Given the description of an element on the screen output the (x, y) to click on. 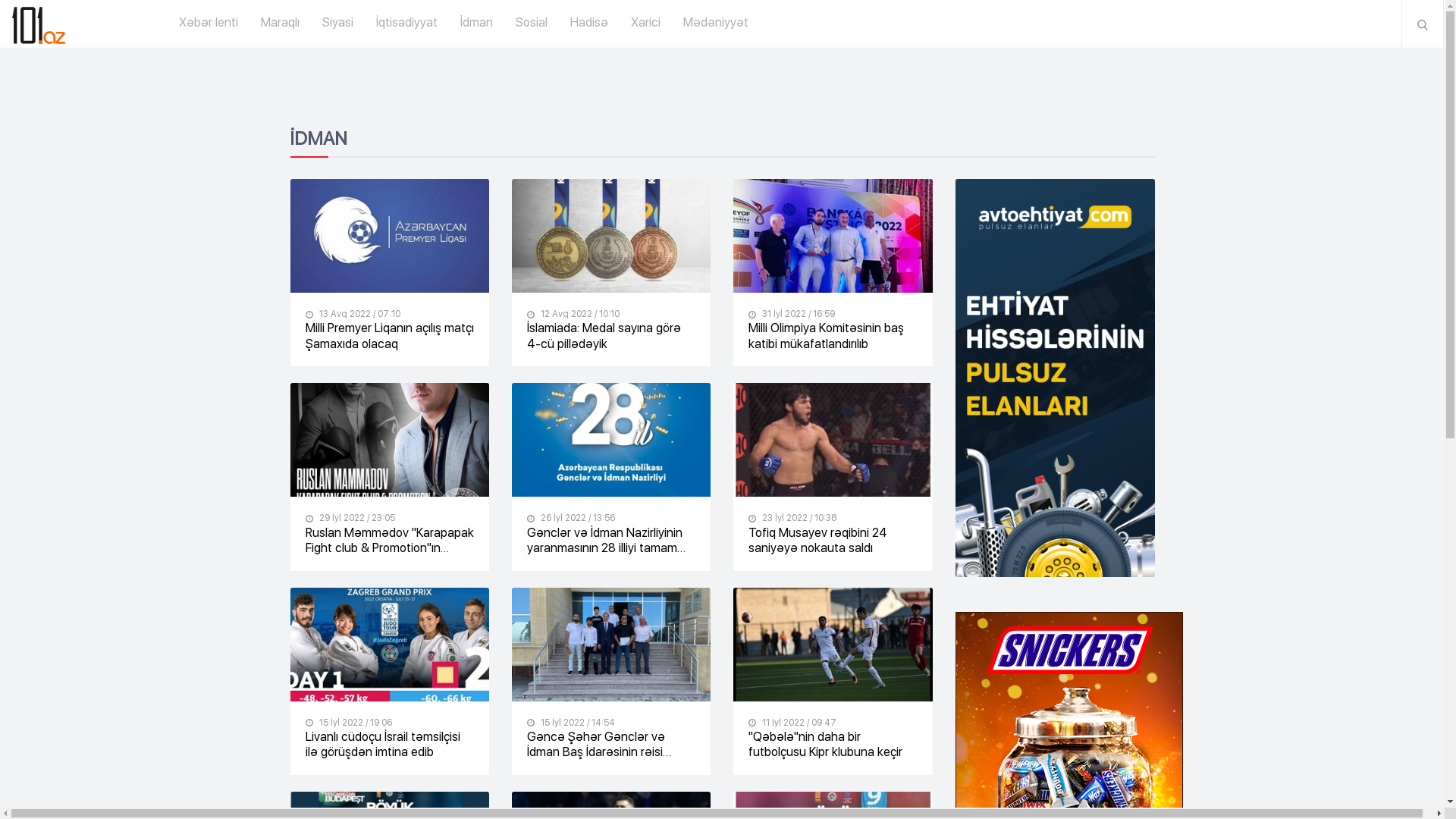
Xarici Element type: text (645, 22)
Siyasi Element type: text (337, 22)
Sosial Element type: text (531, 22)
